Given the description of an element on the screen output the (x, y) to click on. 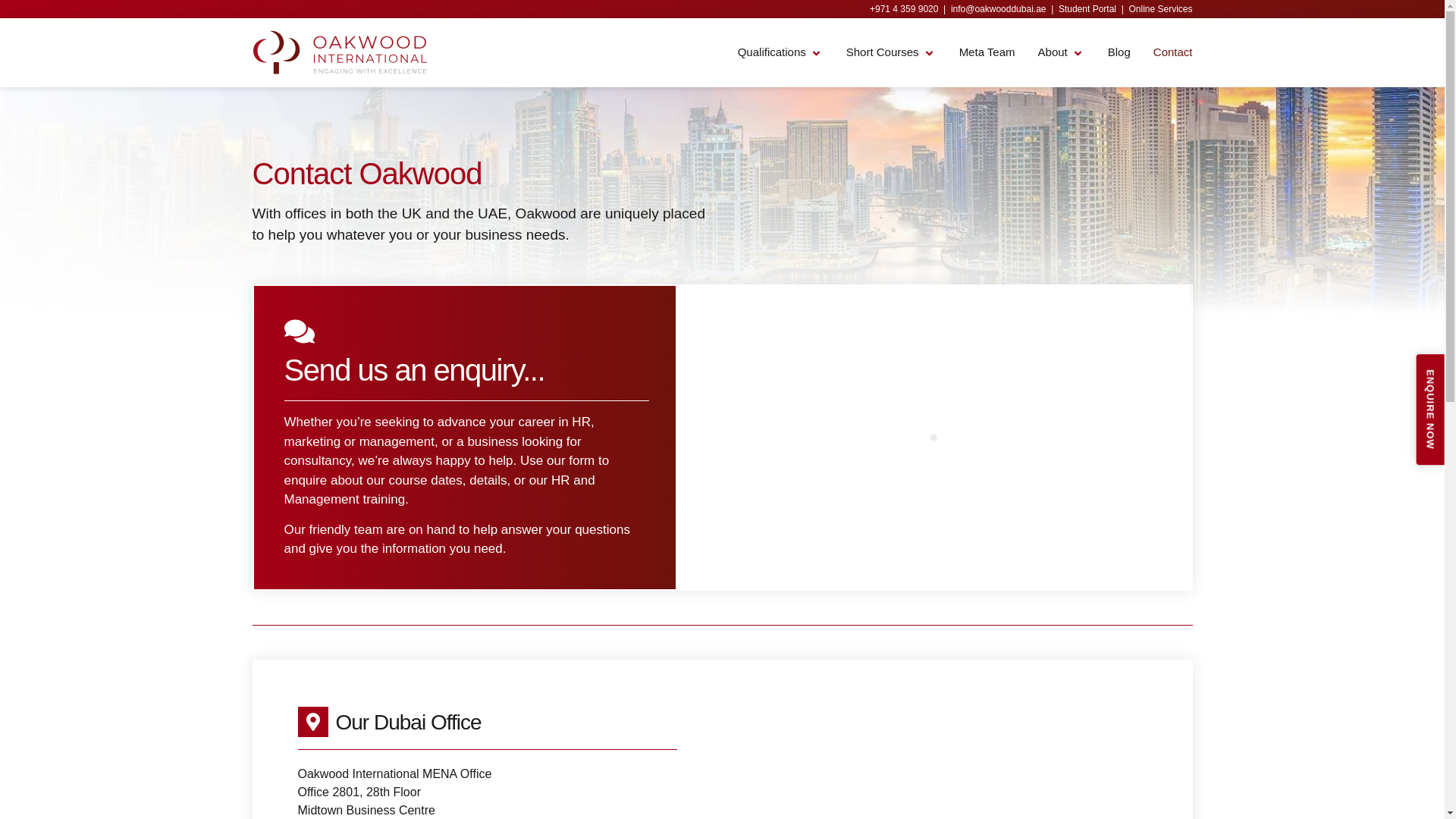
Online Services (1160, 9)
Meta Team (986, 52)
Short Courses (881, 52)
Student Portal (1087, 9)
Qualifications (772, 52)
